Given the description of an element on the screen output the (x, y) to click on. 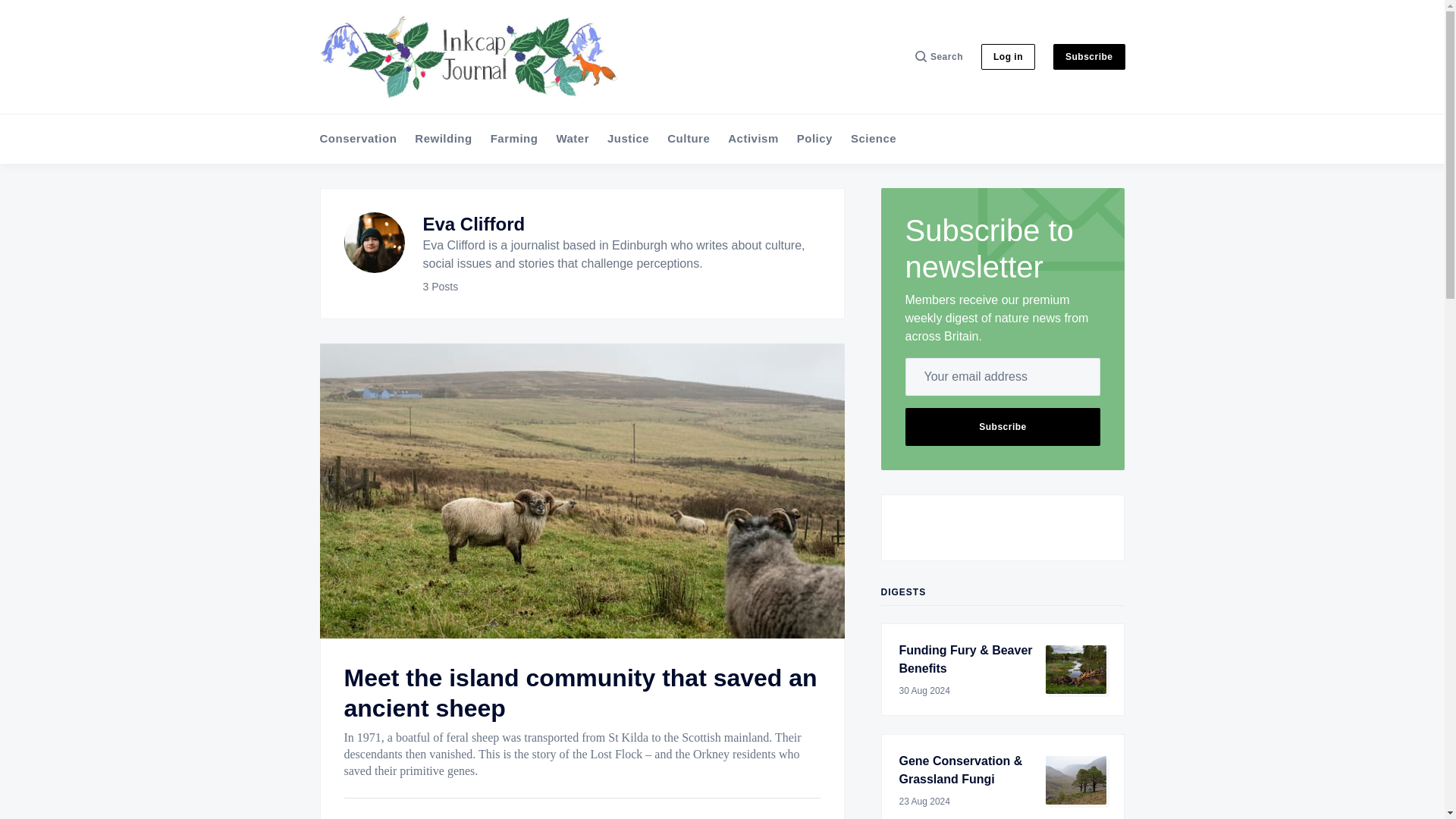
Twitter (971, 527)
Subscribe (1002, 426)
Instagram (1032, 527)
Subscribe (1088, 56)
Meet the island community that saved an ancient sheep (579, 692)
Search (938, 56)
Log in (1008, 56)
Activism (753, 138)
Farming (514, 138)
Science (873, 138)
